Given the description of an element on the screen output the (x, y) to click on. 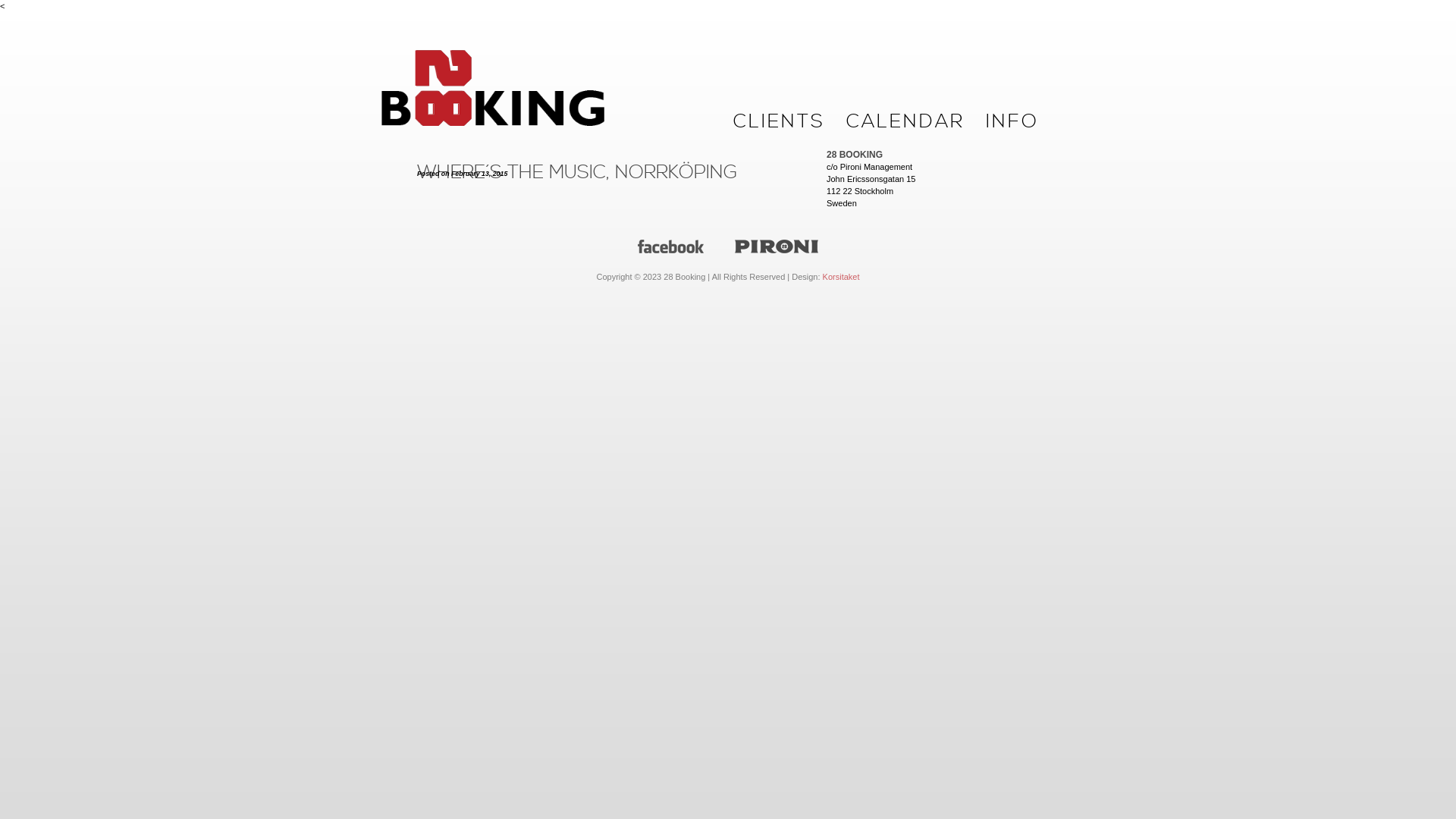
CLIENTS Element type: text (779, 121)
Korsitaket Element type: text (840, 276)
CALENDAR Element type: text (905, 121)
INFO Element type: text (1011, 121)
